Given the description of an element on the screen output the (x, y) to click on. 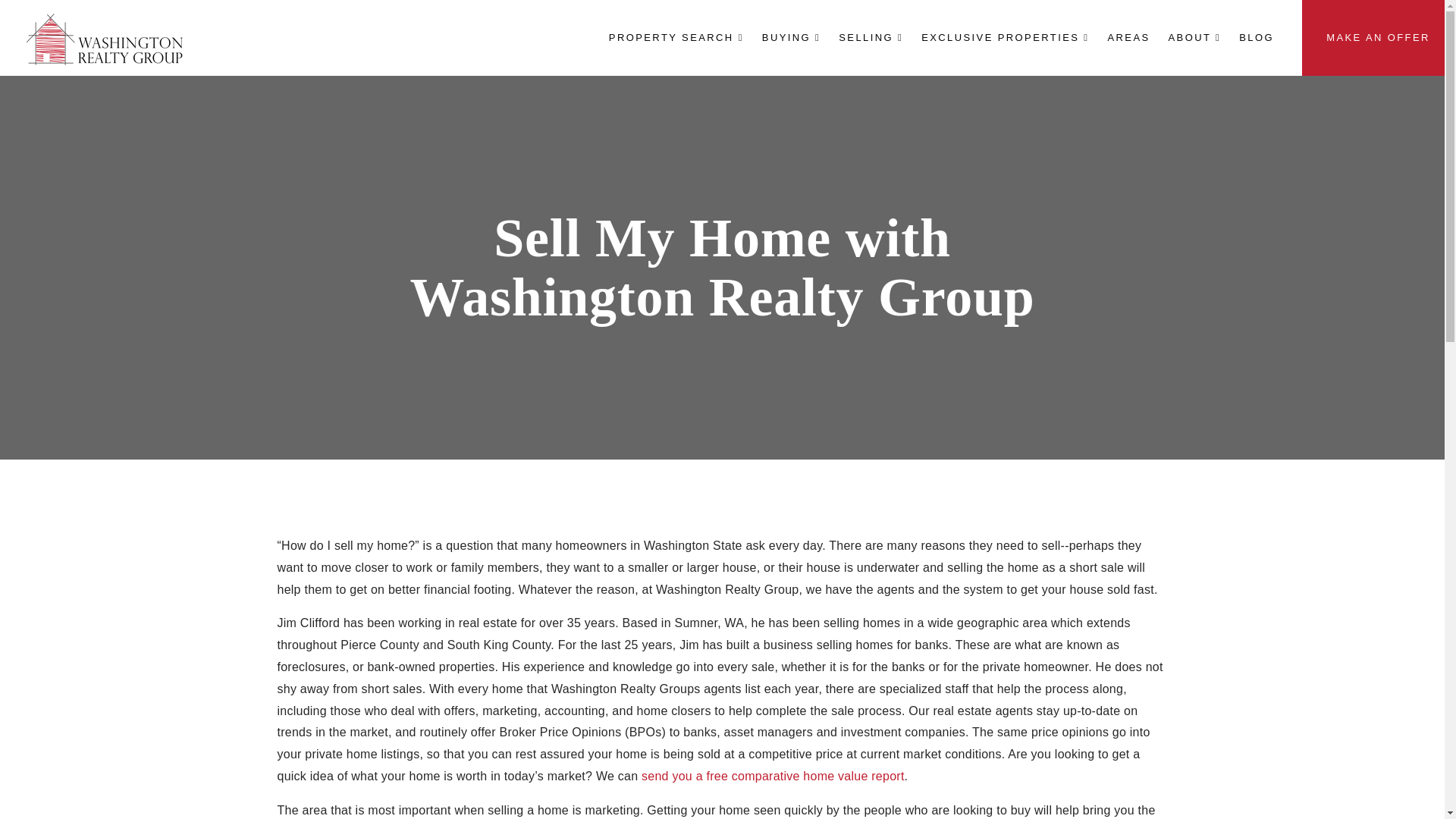
AREAS (1127, 37)
SELLING (870, 37)
BUYING (790, 37)
EXCLUSIVE PROPERTIES (1004, 37)
ABOUT (1194, 37)
PROPERTY SEARCH (675, 37)
